Given the description of an element on the screen output the (x, y) to click on. 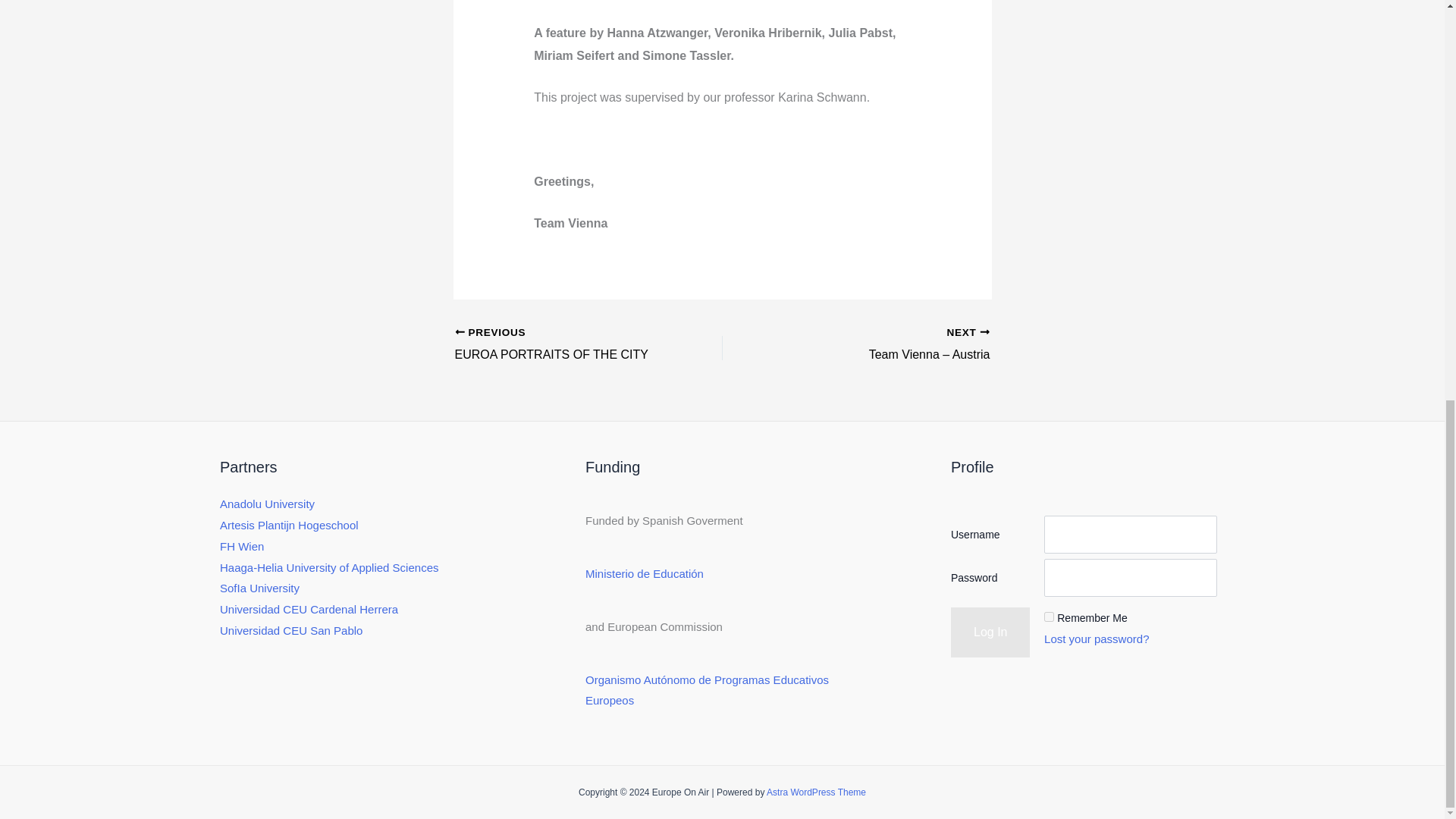
forever (1048, 616)
EUROA PORTRAITS OF THE CITY (561, 344)
Team Vienna - Austria (882, 344)
Password Lost and Found (1095, 638)
Log In (989, 632)
